Given the description of an element on the screen output the (x, y) to click on. 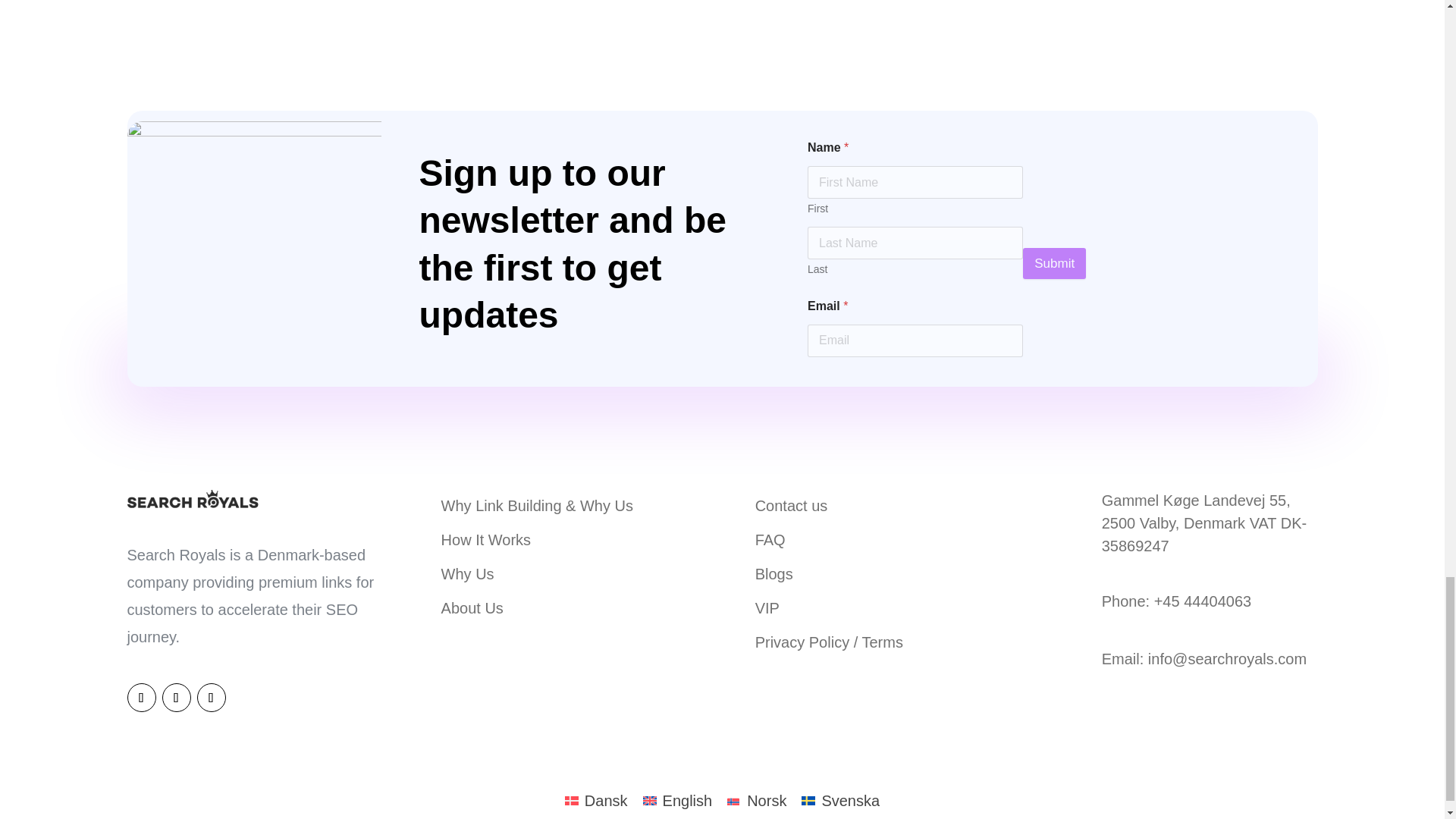
Norsk (756, 800)
Submit (1054, 262)
Follow on Youtube (210, 697)
How It Works (486, 538)
Blogs (774, 573)
Why Us (468, 573)
Dansk (595, 800)
Svenska (839, 800)
VIP (766, 606)
si (254, 248)
About Us (472, 606)
Follow on LinkedIn (141, 697)
Follow on Facebook (175, 697)
logo (194, 497)
FAQ (770, 538)
